Given the description of an element on the screen output the (x, y) to click on. 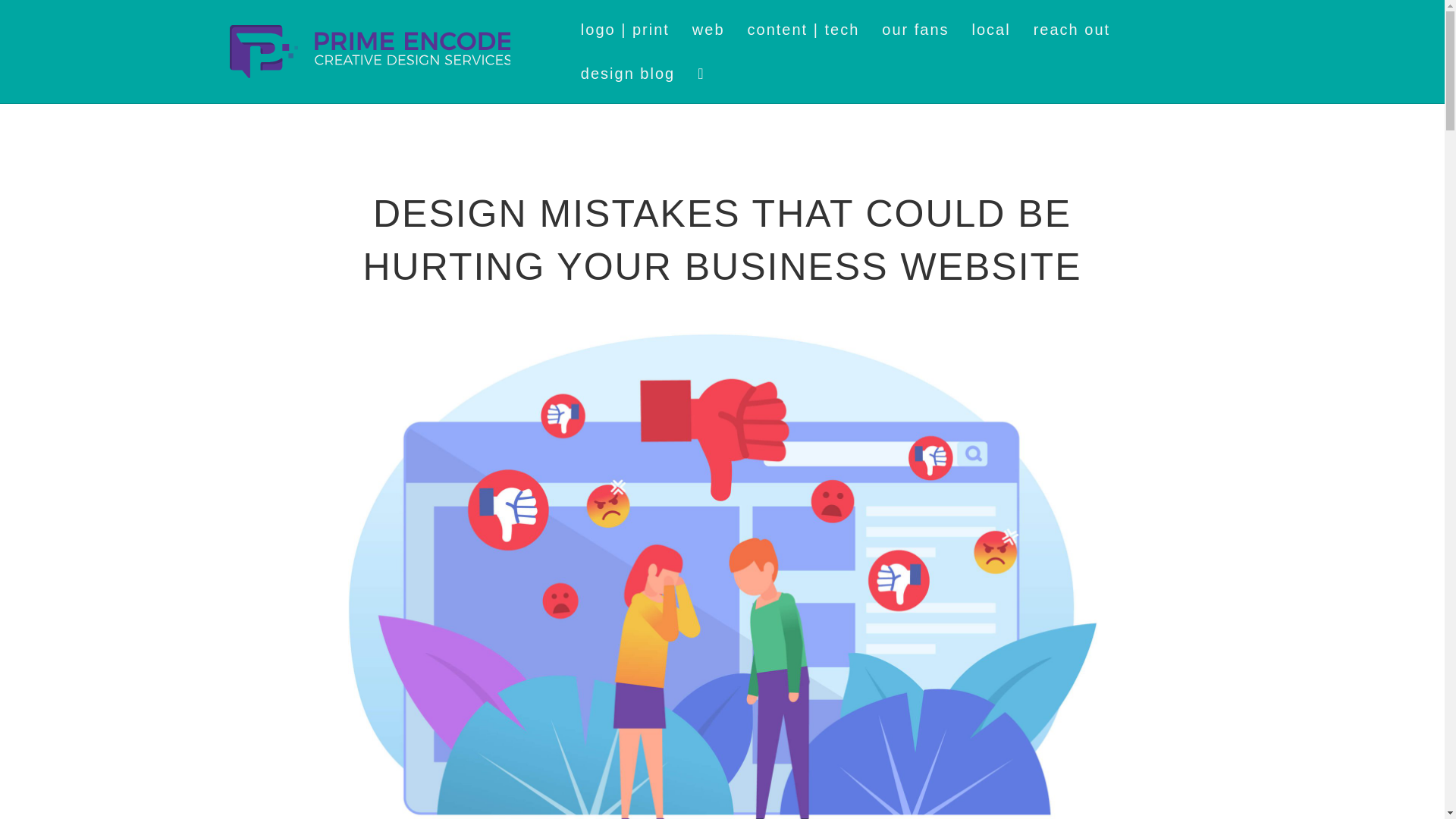
reach out (1071, 29)
web (708, 29)
our fans (914, 29)
design blog (627, 73)
local (991, 29)
